Given the description of an element on the screen output the (x, y) to click on. 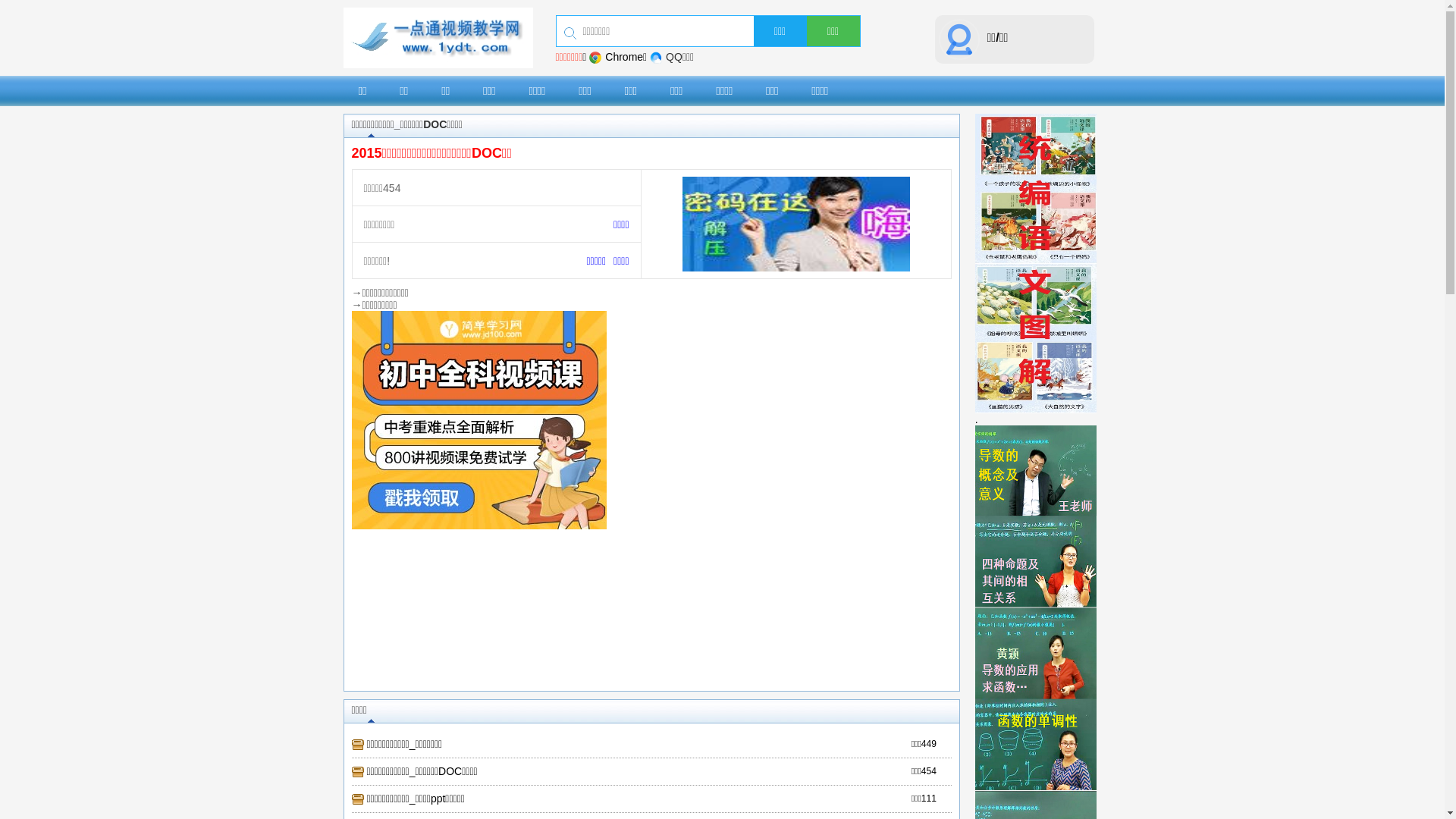
Advertisement Element type: hover (654, 604)
